Given the description of an element on the screen output the (x, y) to click on. 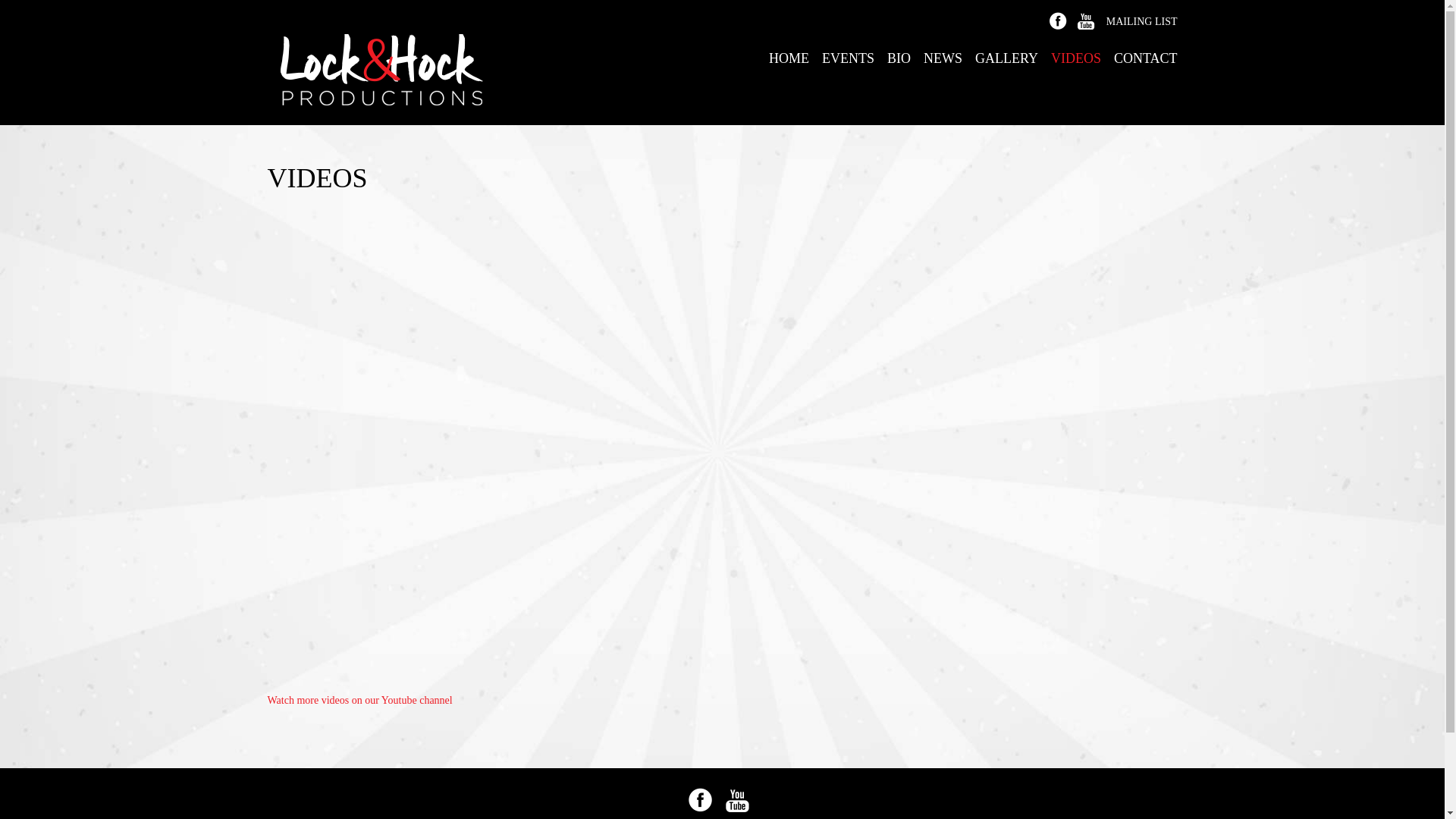
Sign up Element type: text (634, 445)
VIDEOS Element type: text (1076, 58)
BIO Element type: text (898, 58)
GALLERY Element type: text (1006, 58)
YouTube video player Element type: hover (478, 558)
NEWS Element type: text (942, 58)
MAILING LIST Element type: text (1141, 21)
CONTACT Element type: text (1145, 58)
YOUTUBE Element type: text (1086, 20)
YouTube Element type: text (737, 799)
HOME Element type: text (788, 58)
Watch more videos on our Youtube channel Element type: text (358, 700)
EVENTS Element type: text (848, 58)
FACEBOOK Element type: text (1057, 20)
YouTube video player Element type: hover (478, 316)
Facebook Element type: text (700, 799)
